Given the description of an element on the screen output the (x, y) to click on. 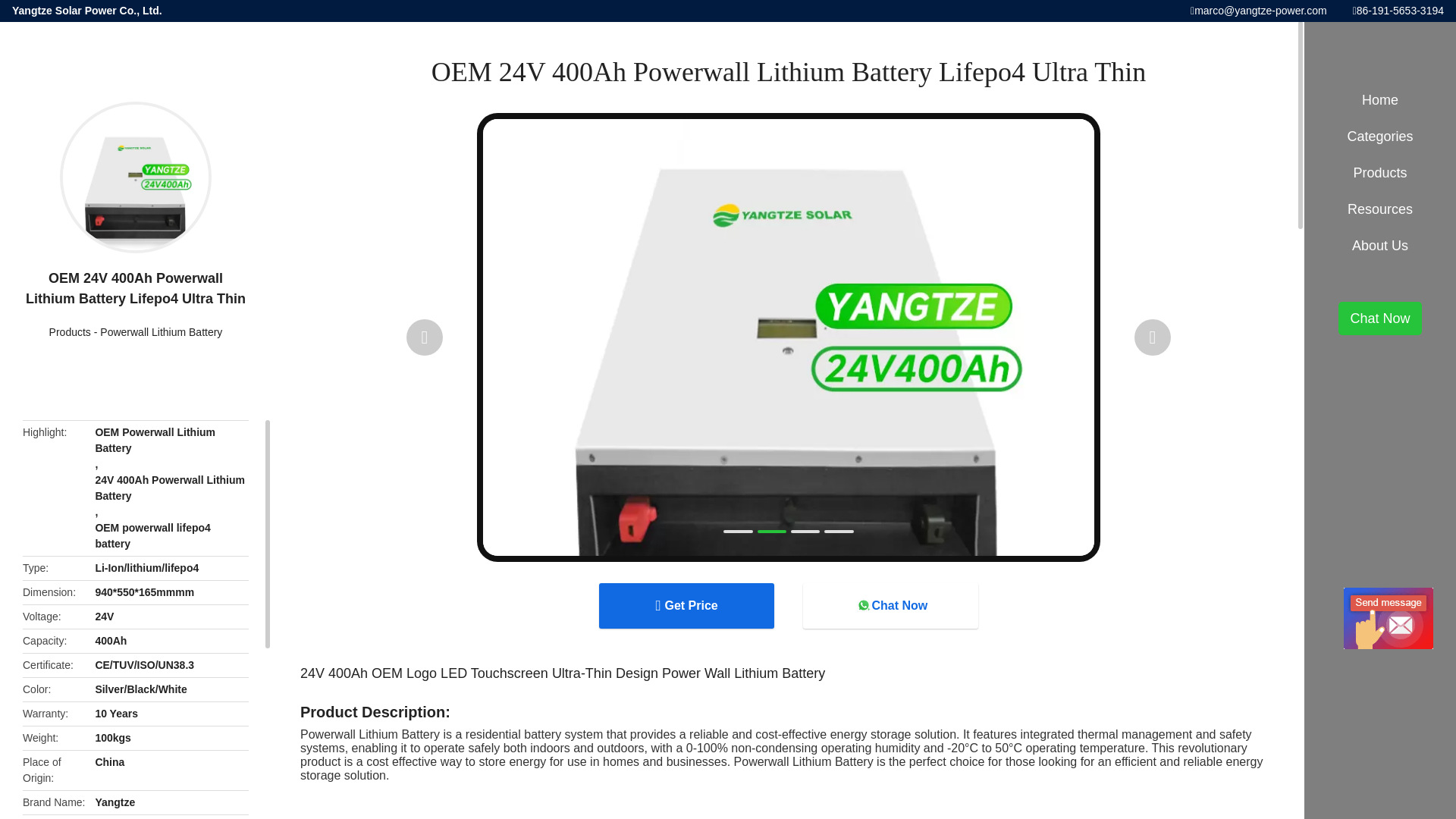
Products (69, 331)
Products (69, 331)
Get Price (685, 605)
Powerwall Lithium Battery (161, 331)
Categories (1379, 135)
Home (1379, 99)
China Powerwall Lithium Battery Manufacturers (161, 331)
Chat Now (889, 605)
